Given the description of an element on the screen output the (x, y) to click on. 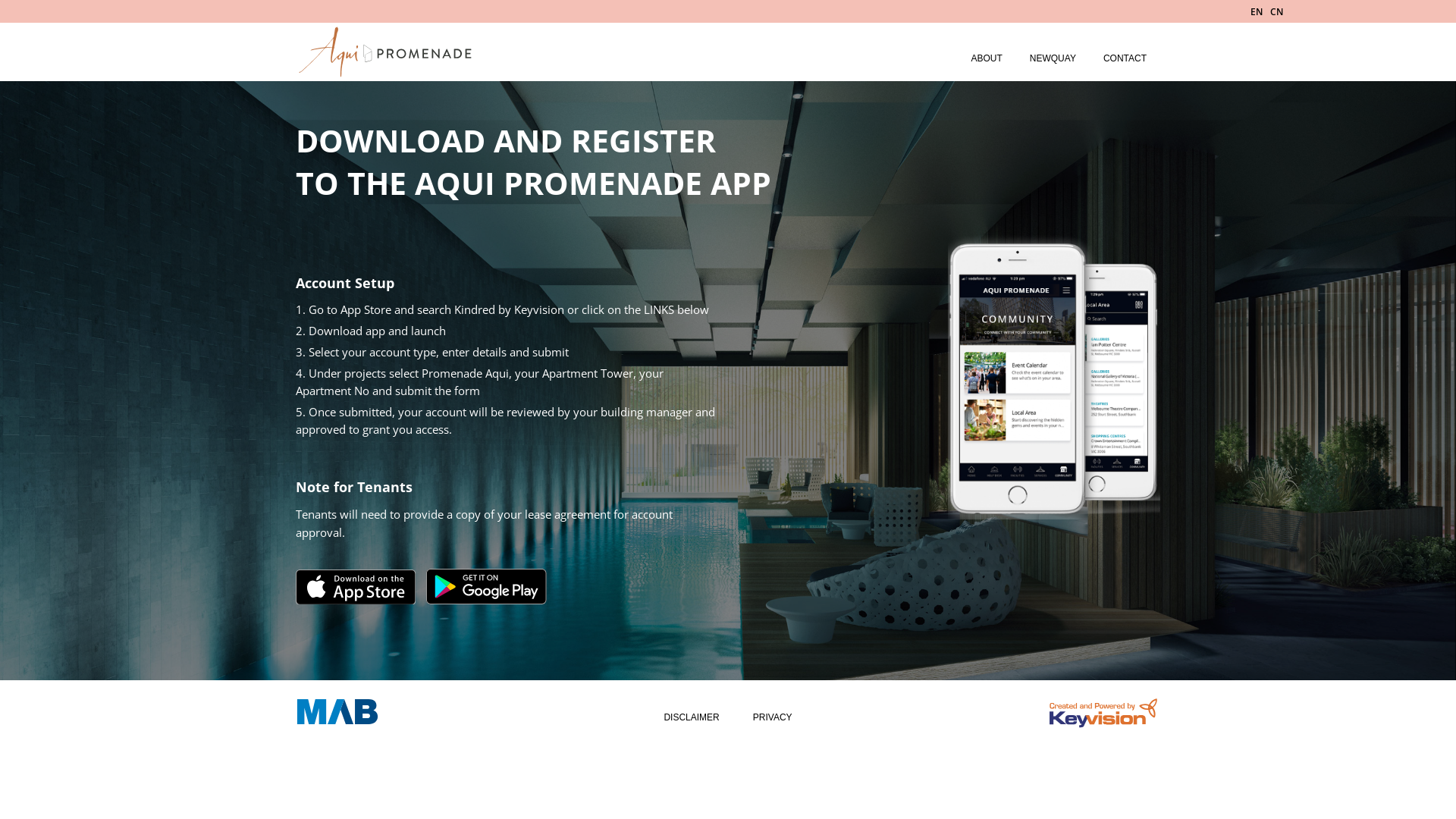
CN Element type: text (1276, 12)
CONTACT Element type: text (1124, 58)
DISCLAIMER Element type: text (690, 717)
EN Element type: text (1256, 12)
ABOUT Element type: text (985, 58)
NEWQUAY Element type: text (1052, 58)
PRIVACY Element type: text (772, 717)
